Given the description of an element on the screen output the (x, y) to click on. 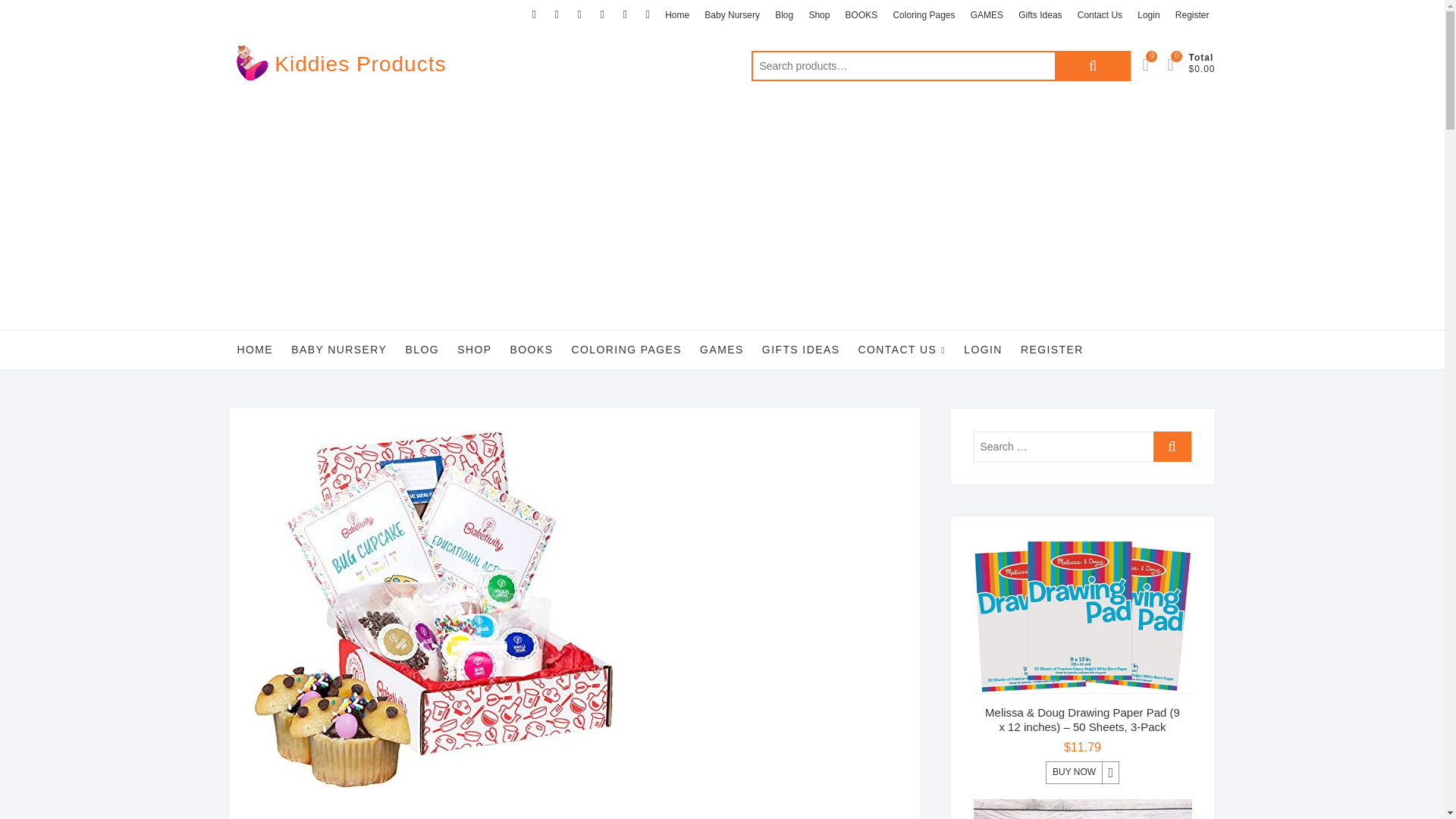
facebook (533, 14)
linkedin (601, 14)
BOOKS (531, 349)
Gifts Ideas (1039, 15)
HOME (254, 349)
Shop (818, 15)
pinterest (624, 14)
GAMES (986, 15)
Kiddies Products (360, 63)
Coloring Pages (923, 15)
SHOP (474, 349)
instagram (579, 14)
